Given the description of an element on the screen output the (x, y) to click on. 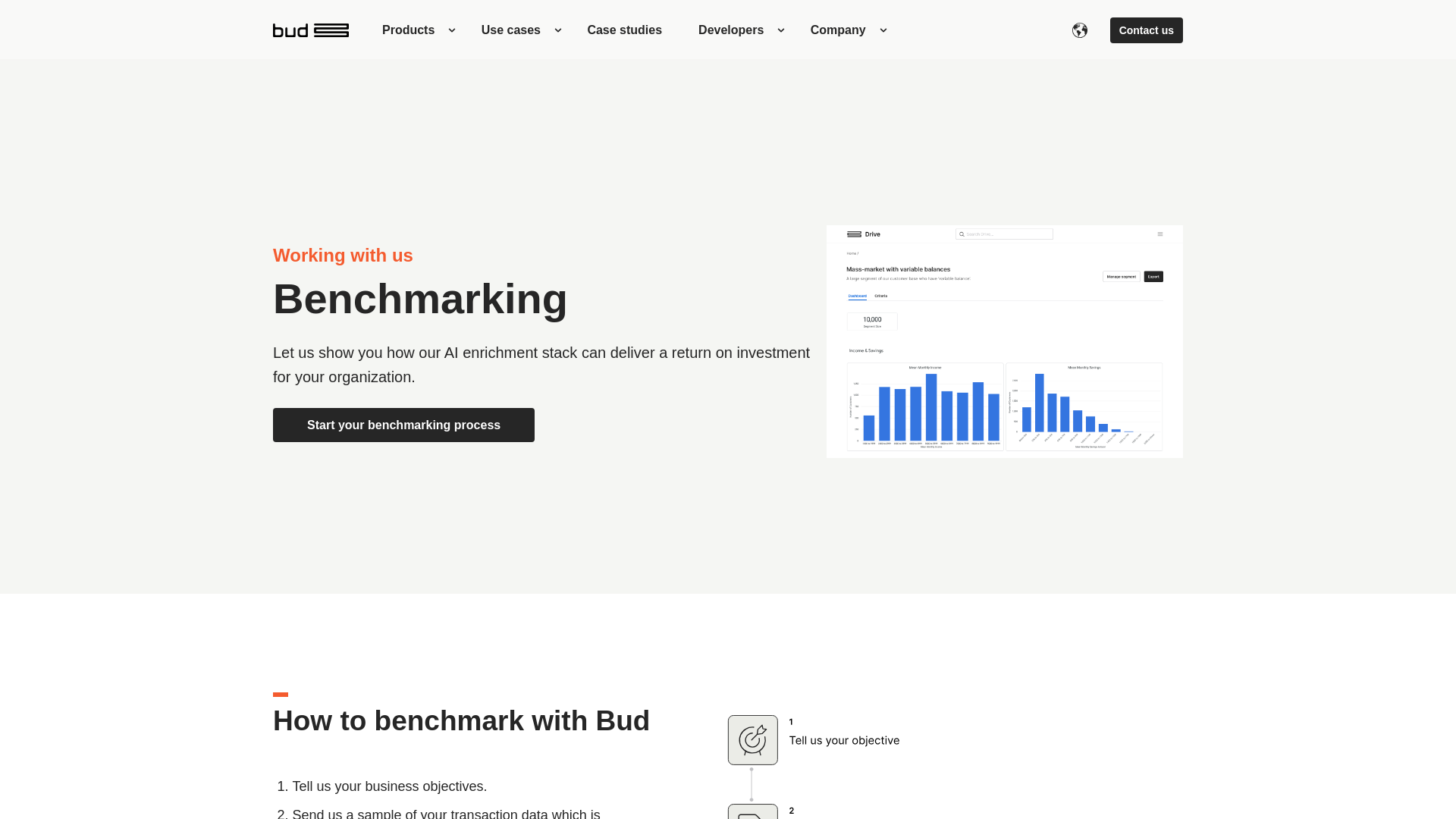
Use cases (516, 30)
Products (413, 30)
